Given the description of an element on the screen output the (x, y) to click on. 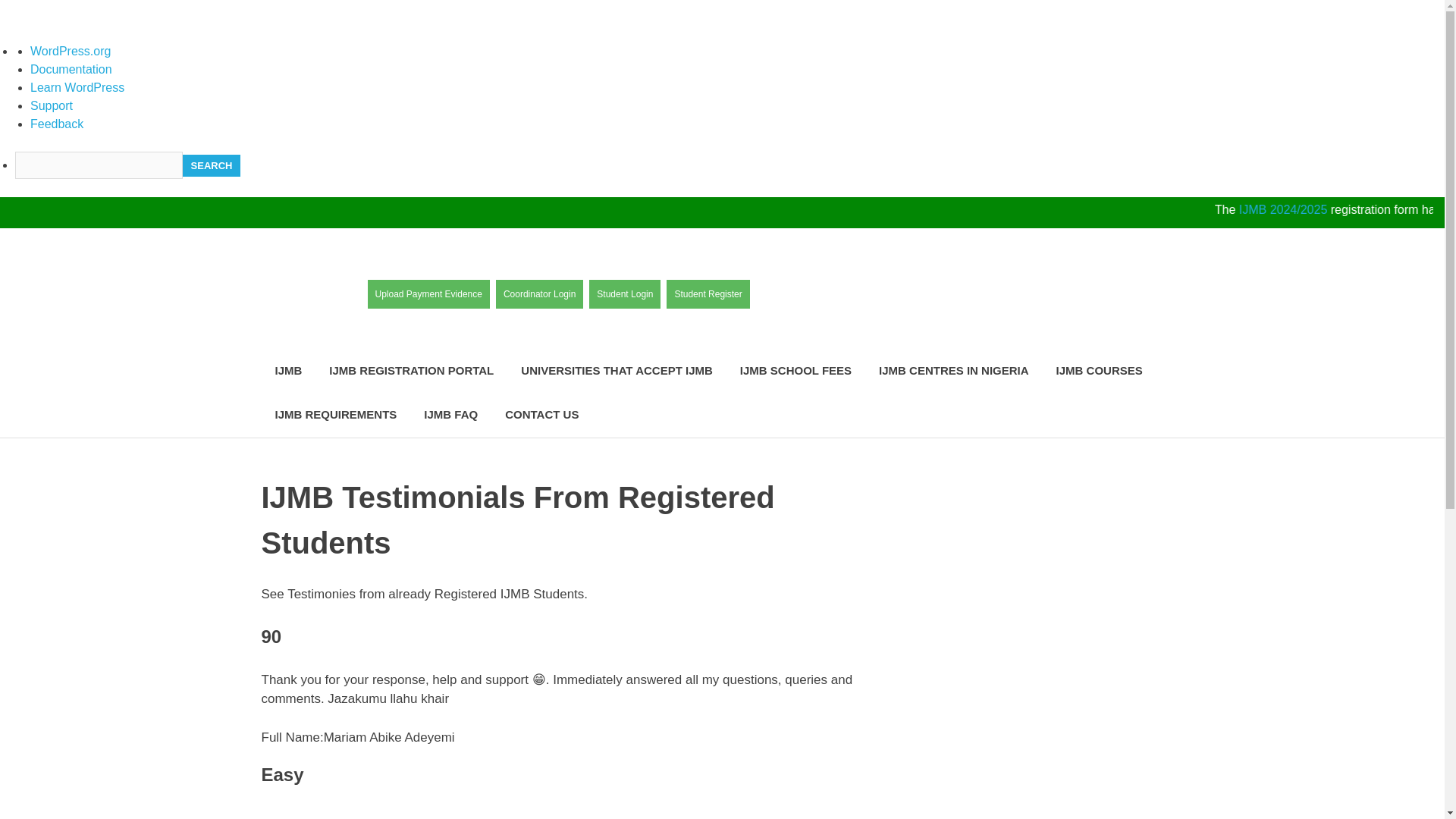
IJMB COURSES (1099, 370)
IJMB FAQ (451, 415)
Feedback (56, 123)
IJMB REQUIREMENTS (335, 415)
Easy (317, 810)
CONTACT US (542, 415)
Support (51, 105)
IJMB (287, 370)
IJMB REGISTRATION PORTAL (410, 370)
Student Register (707, 294)
